Given the description of an element on the screen output the (x, y) to click on. 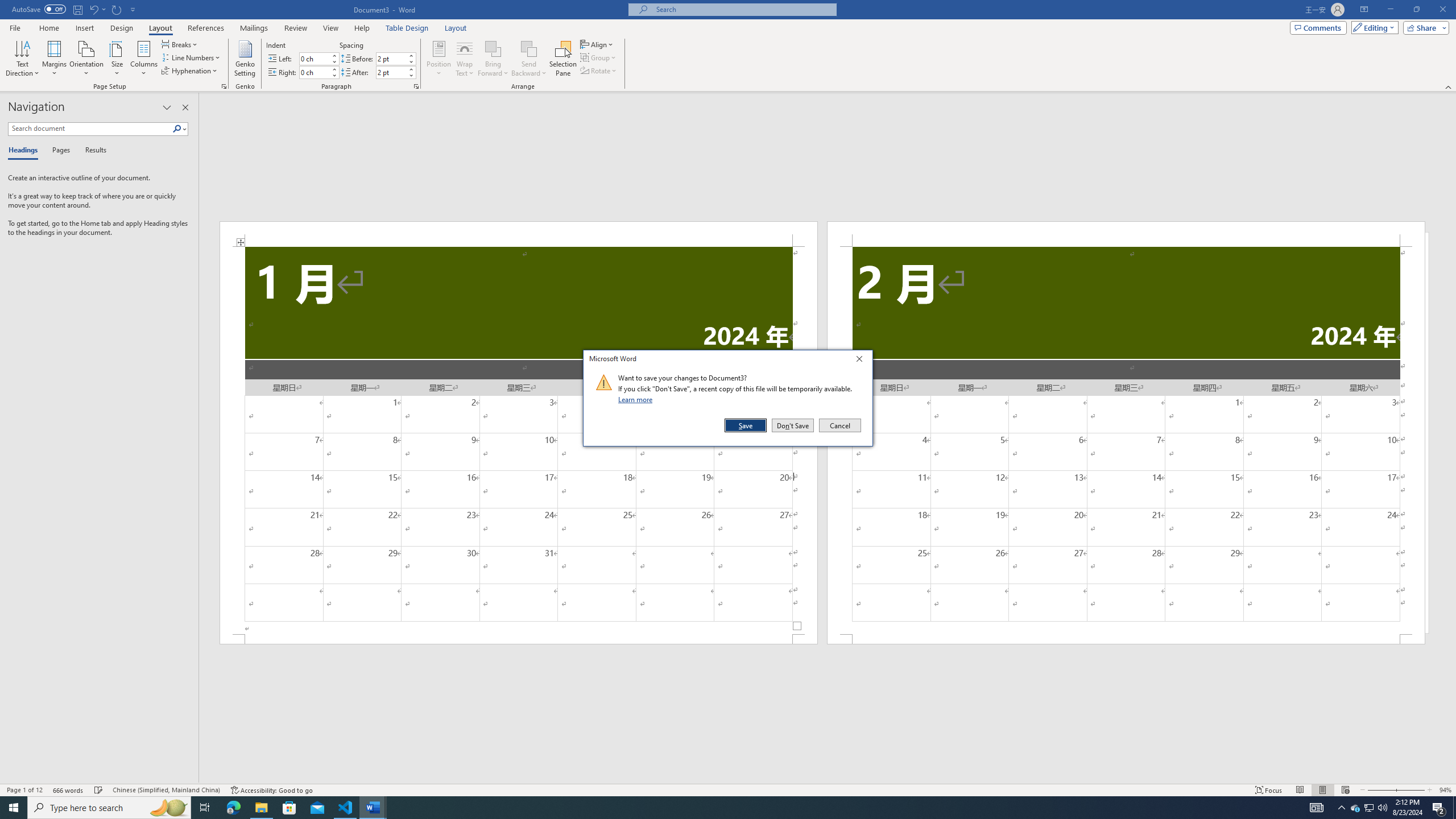
Line Numbers (191, 56)
Wrap Text (464, 58)
Page Setup... (223, 85)
Send Backward (528, 58)
Breaks (179, 44)
